Given the description of an element on the screen output the (x, y) to click on. 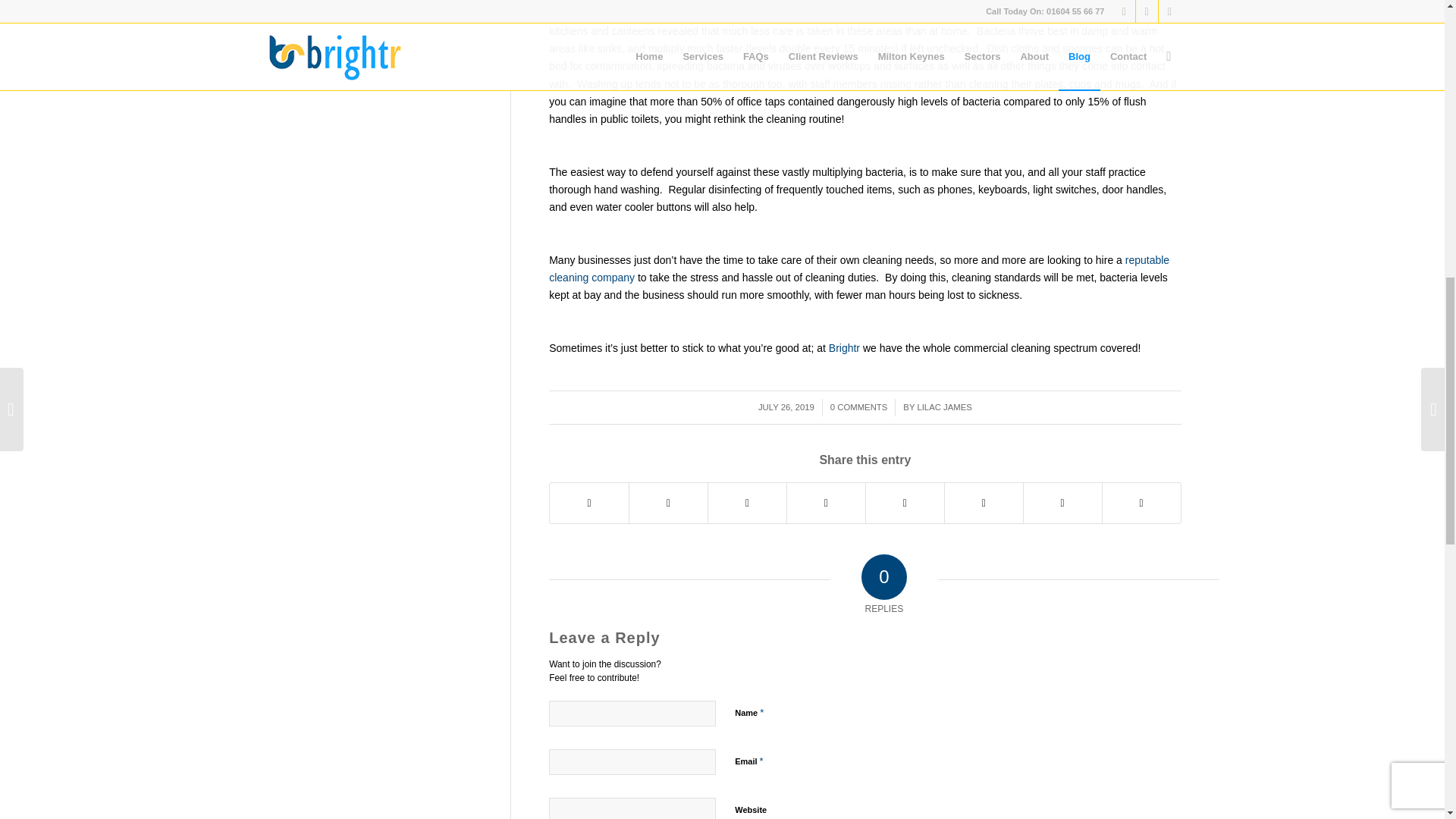
LILAC JAMES (944, 406)
Posts by Lilac James (944, 406)
reputable cleaning company (858, 268)
0 COMMENTS (858, 406)
Brightr (844, 347)
